Given the description of an element on the screen output the (x, y) to click on. 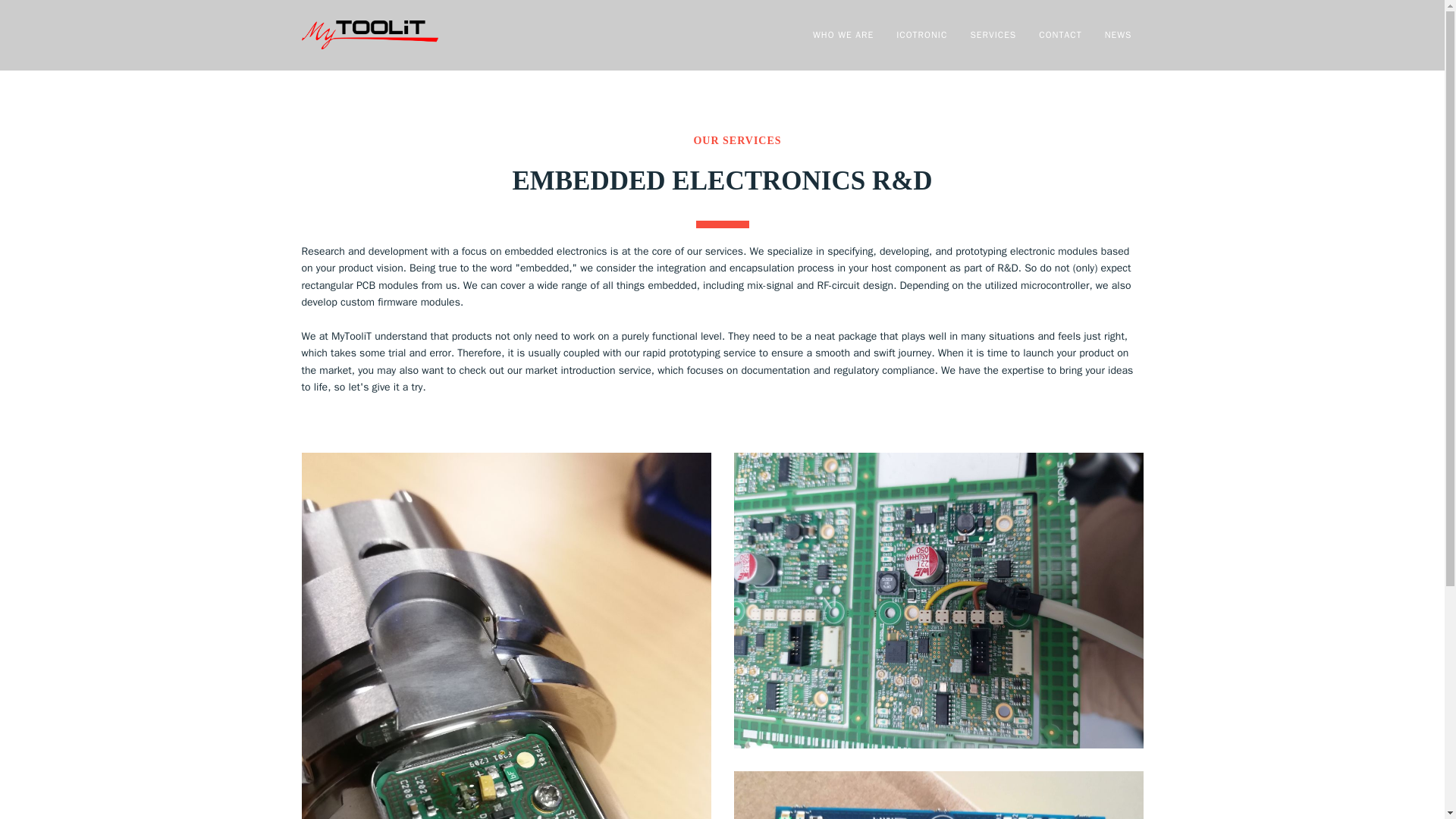
NEWS (1118, 34)
ICOTRONIC (921, 34)
WHO WE ARE (842, 34)
SERVICES (992, 34)
CONTACT (972, 34)
